Given the description of an element on the screen output the (x, y) to click on. 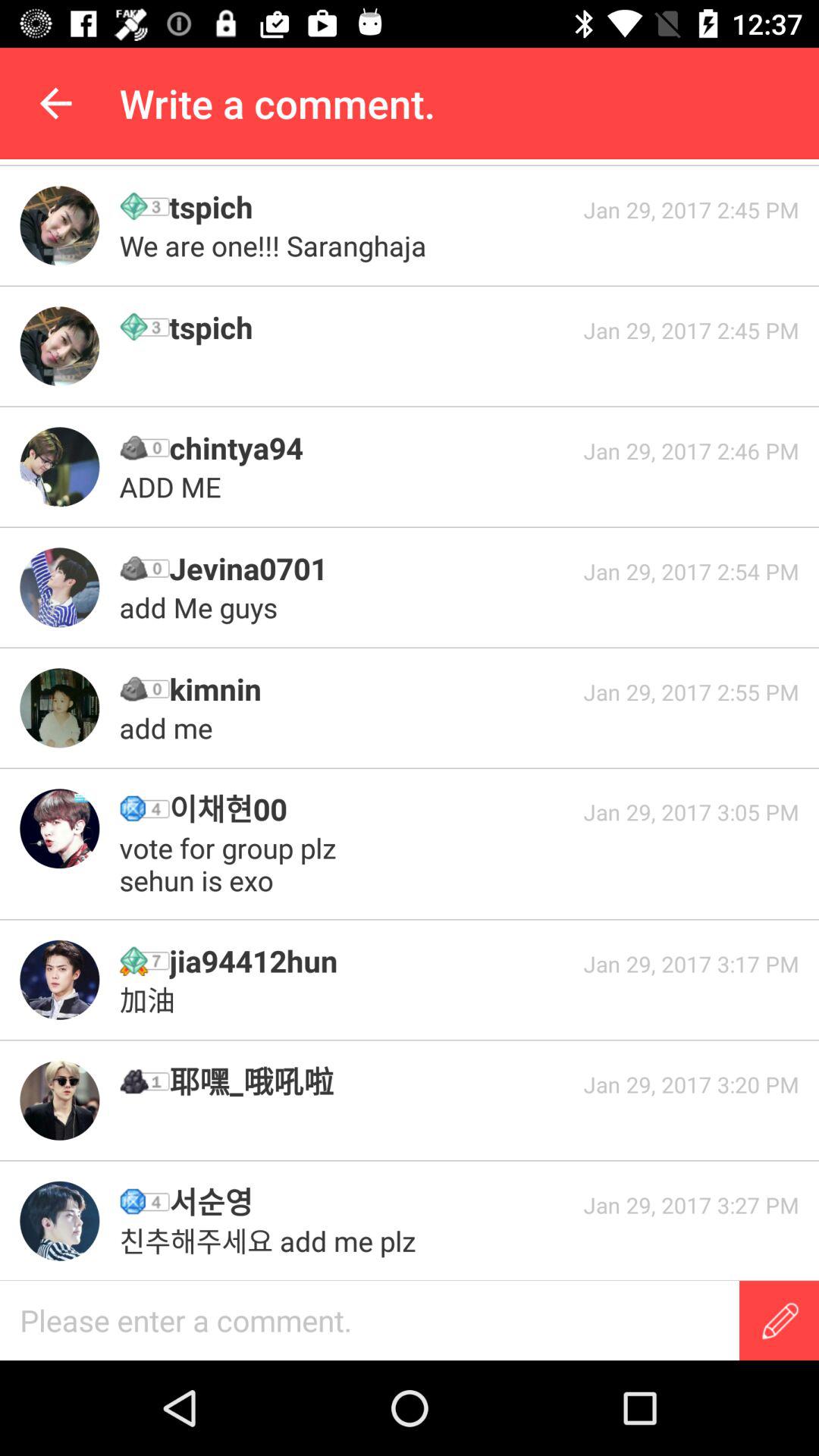
select profile (59, 828)
